Given the description of an element on the screen output the (x, y) to click on. 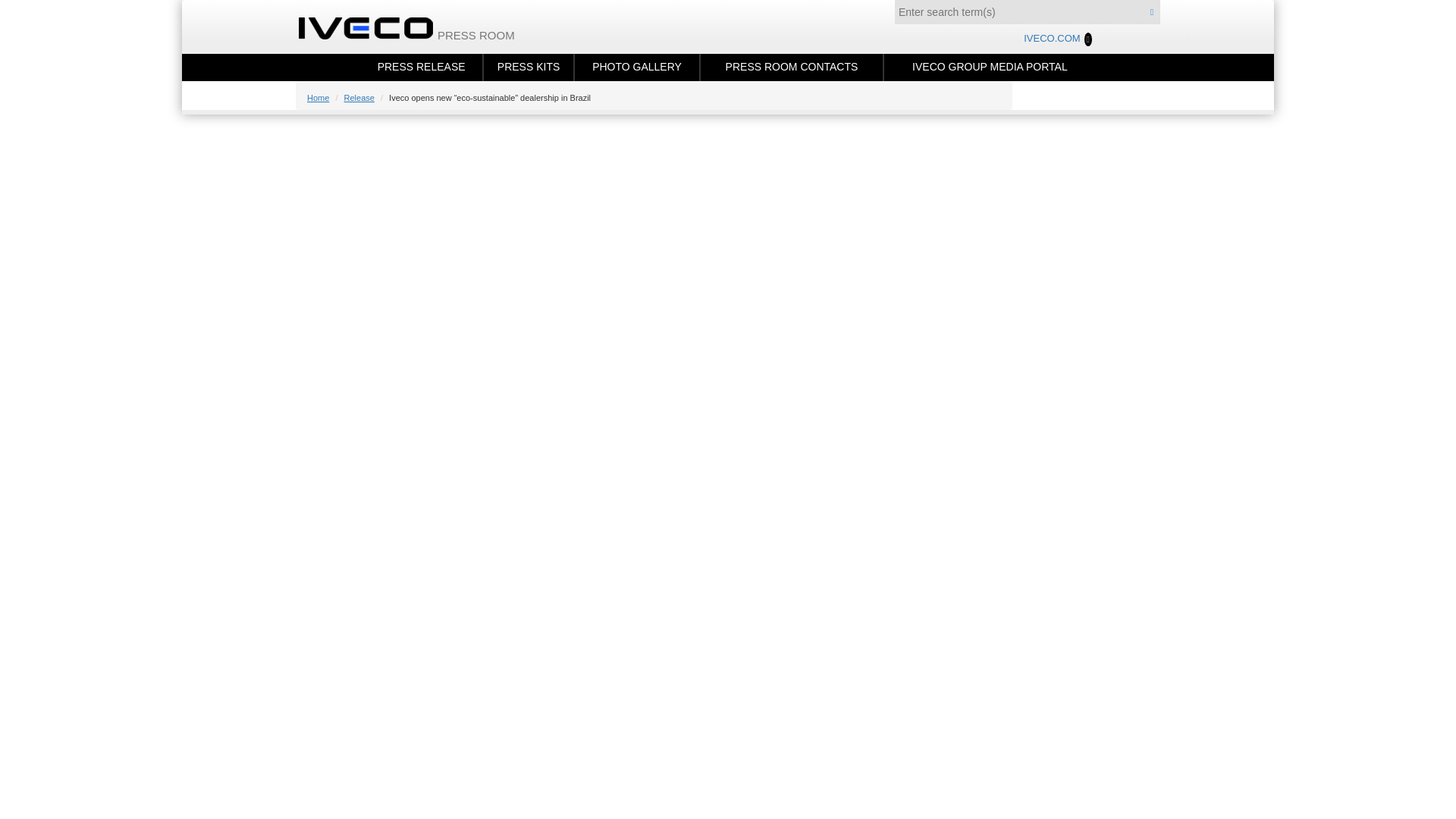
Press Kits (528, 67)
Iveco (374, 26)
Press release Iveco (420, 67)
PRESS RELEASE (420, 67)
PRESS KITS (528, 67)
IVECO.COM (1056, 39)
